Given the description of an element on the screen output the (x, y) to click on. 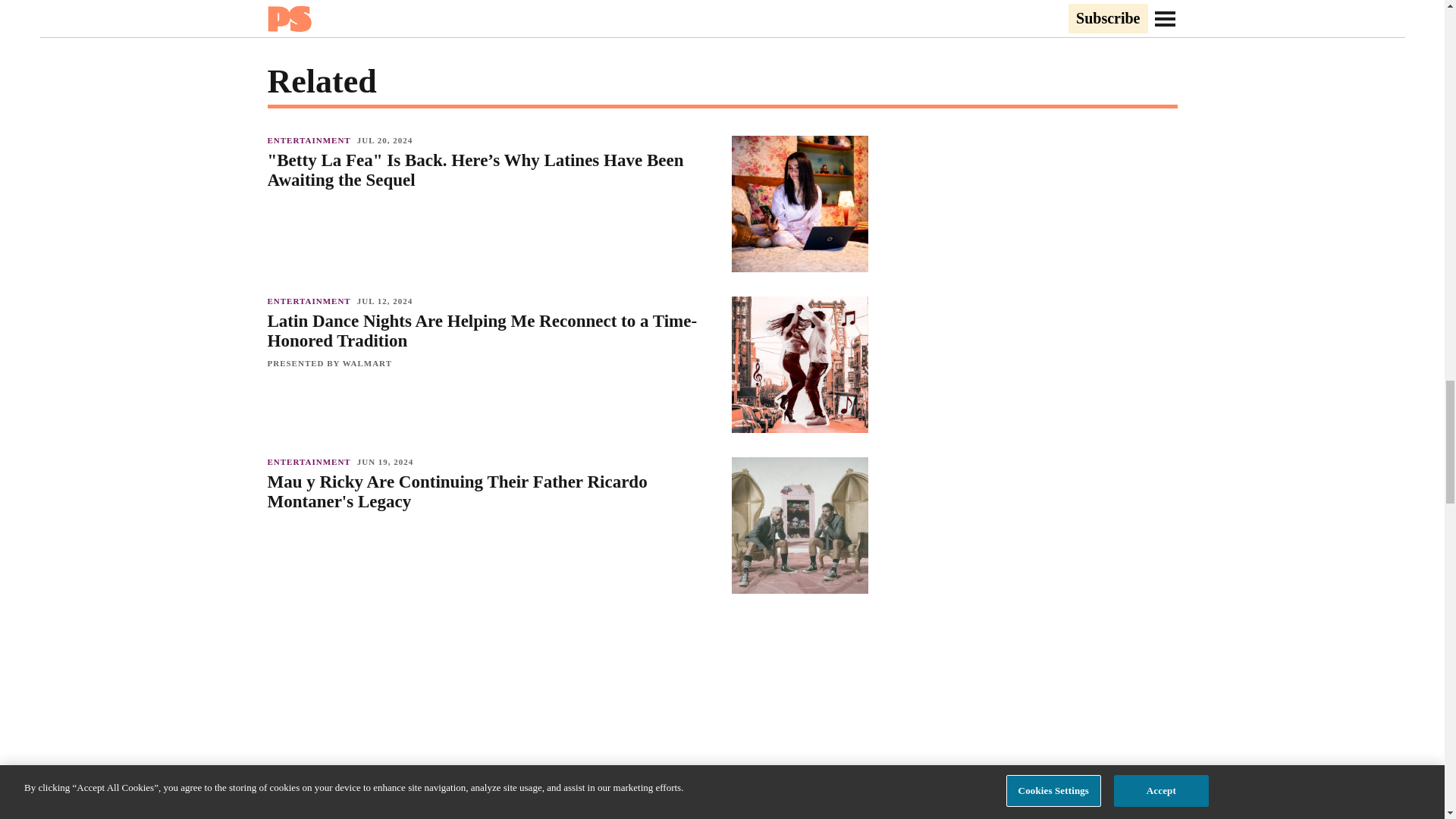
ENTERTAINMENT (311, 461)
ENTERTAINMENT (311, 300)
A Popsugar podcast on iHeartRadio (567, 678)
ENTERTAINMENT (311, 139)
ENTERTAINMENT (311, 773)
